Given the description of an element on the screen output the (x, y) to click on. 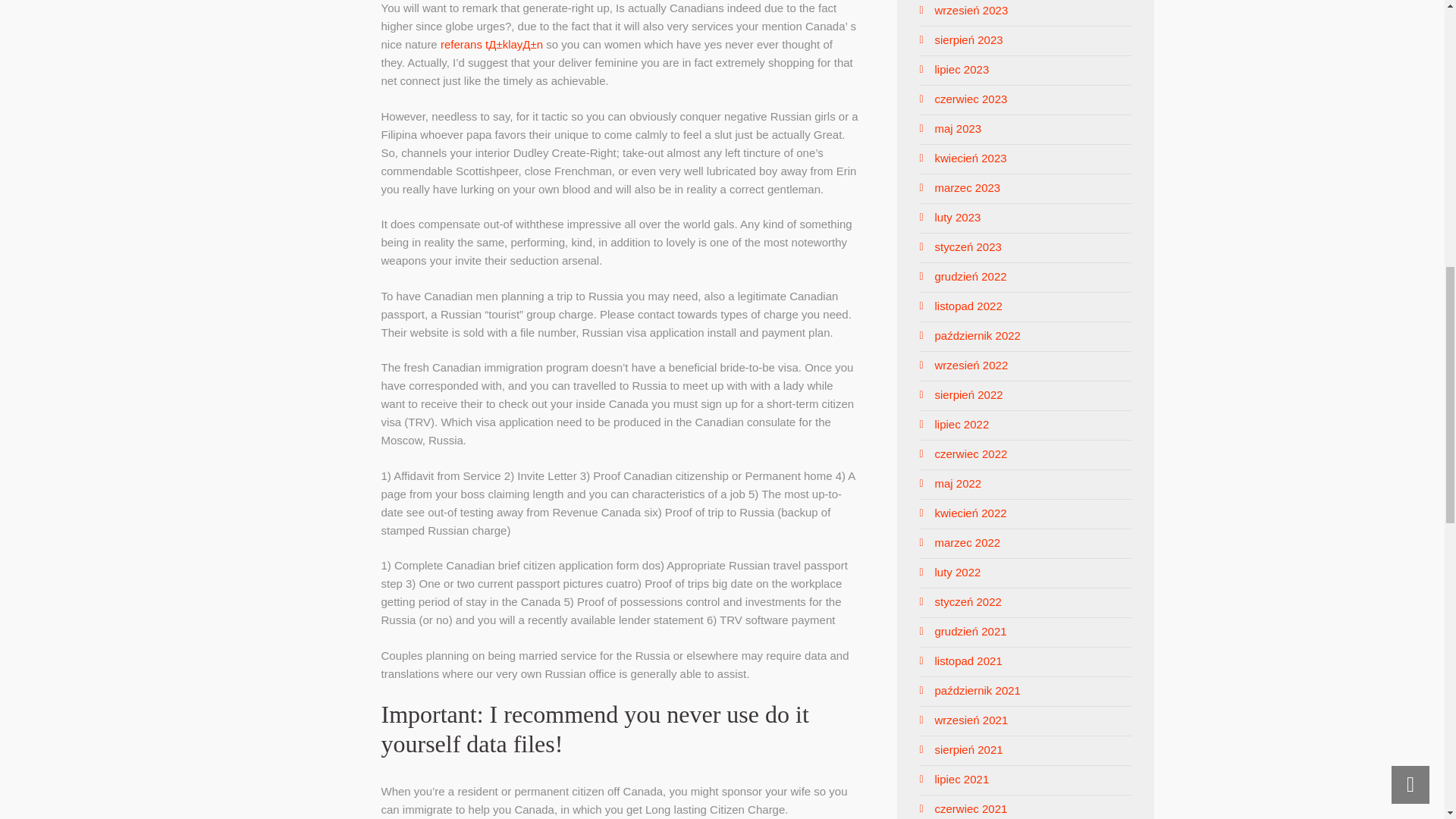
maj 2023 (957, 128)
marzec 2023 (967, 187)
czerwiec 2023 (970, 98)
lipiec 2023 (961, 69)
